Given the description of an element on the screen output the (x, y) to click on. 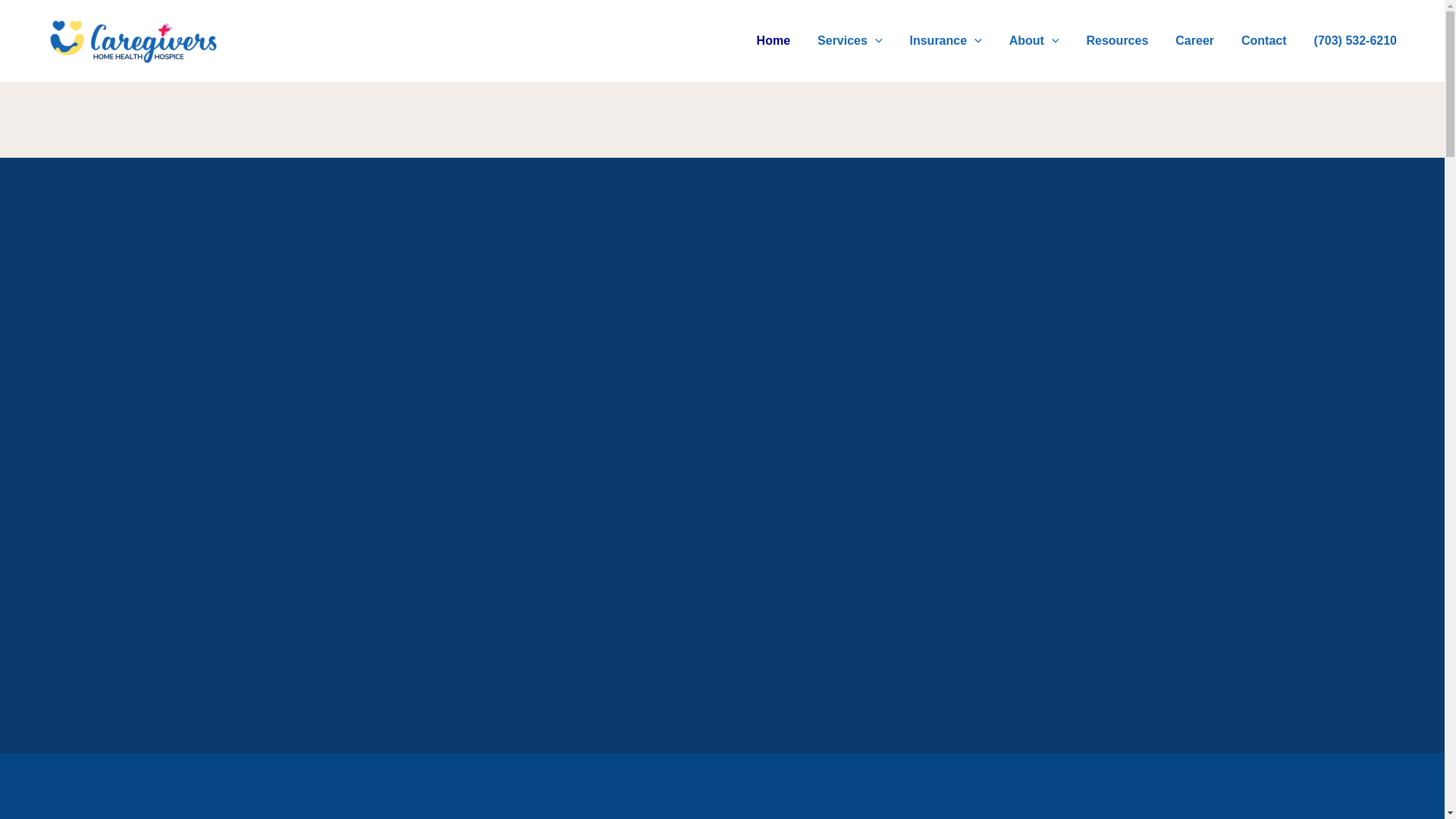
About (1034, 40)
Contact (1263, 40)
Home (772, 40)
Services (849, 40)
Resources (1116, 40)
Career (1194, 40)
Insurance (945, 40)
